Given the description of an element on the screen output the (x, y) to click on. 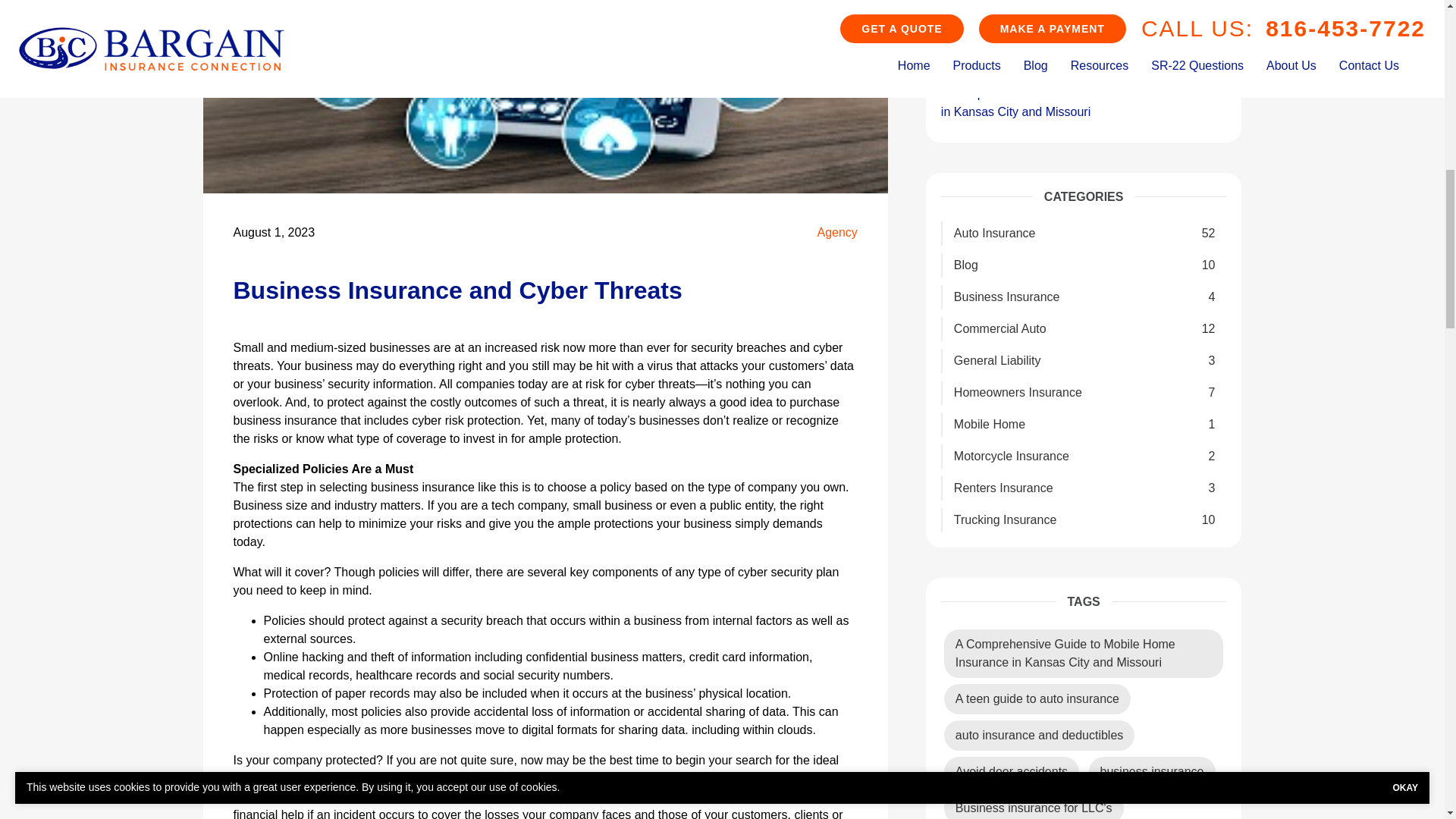
Agency (836, 232)
